Given the description of an element on the screen output the (x, y) to click on. 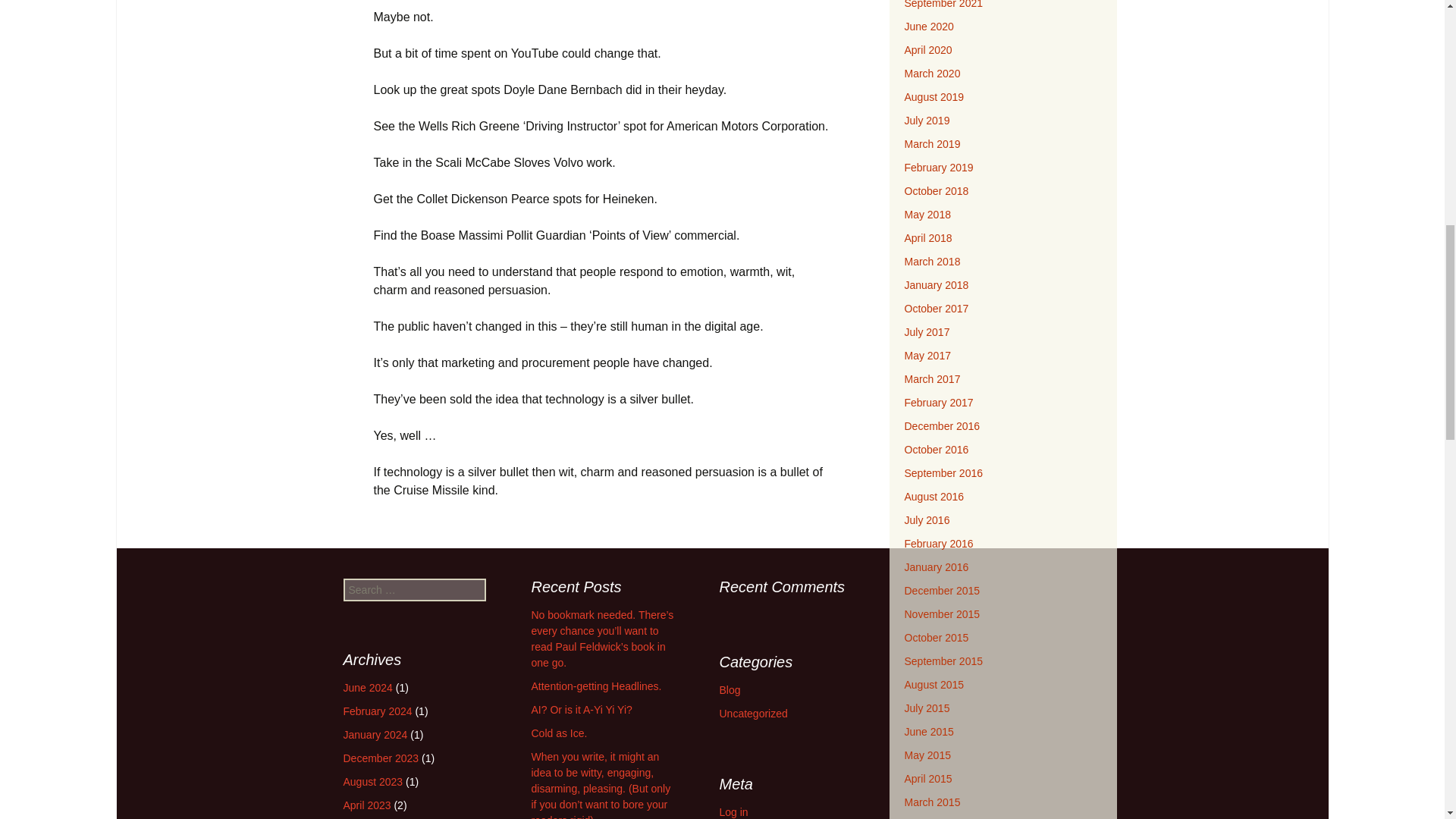
August 2019 (933, 96)
May 2018 (927, 214)
March 2019 (931, 143)
October 2016 (936, 449)
June 2020 (928, 26)
February 2019 (938, 167)
July 2019 (926, 120)
December 2016 (941, 426)
October 2017 (936, 308)
March 2017 (931, 378)
April 2020 (928, 50)
May 2017 (927, 355)
January 2018 (936, 285)
July 2017 (926, 331)
March 2018 (931, 261)
